Given the description of an element on the screen output the (x, y) to click on. 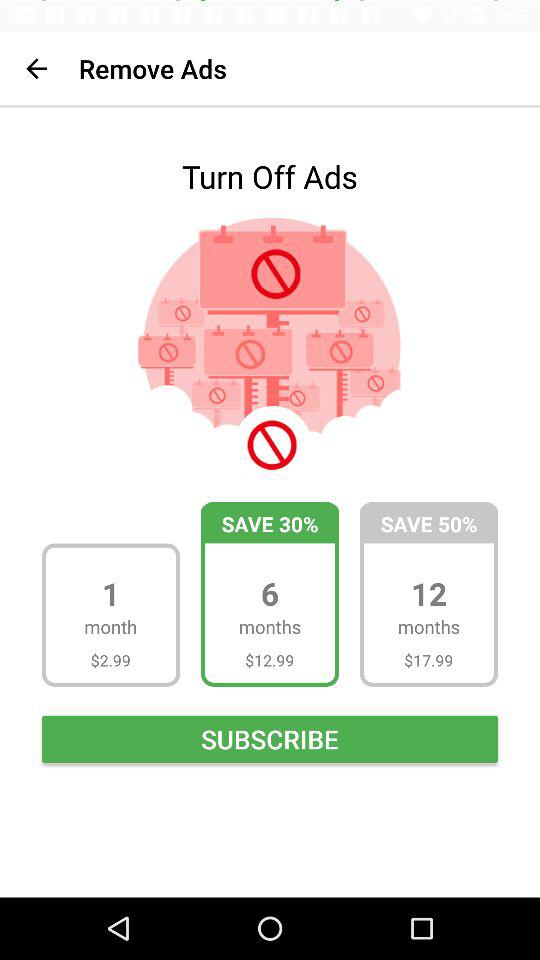
press item to the left of remove ads item (36, 68)
